Given the description of an element on the screen output the (x, y) to click on. 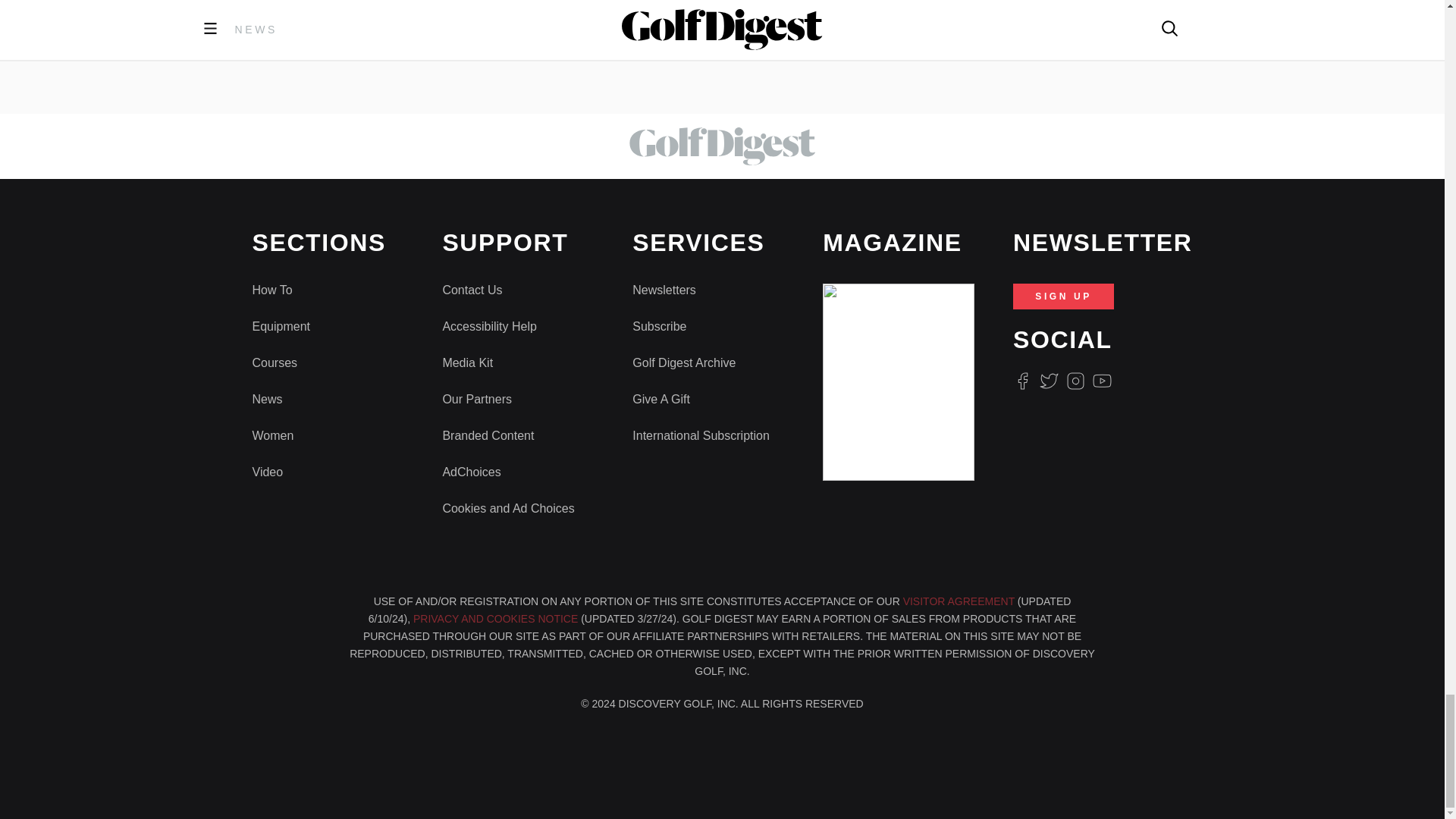
Instagram Logo (1074, 380)
Twitter Logo (1048, 380)
Youtube Icon (1102, 380)
Facebook Logo (1022, 380)
